Given the description of an element on the screen output the (x, y) to click on. 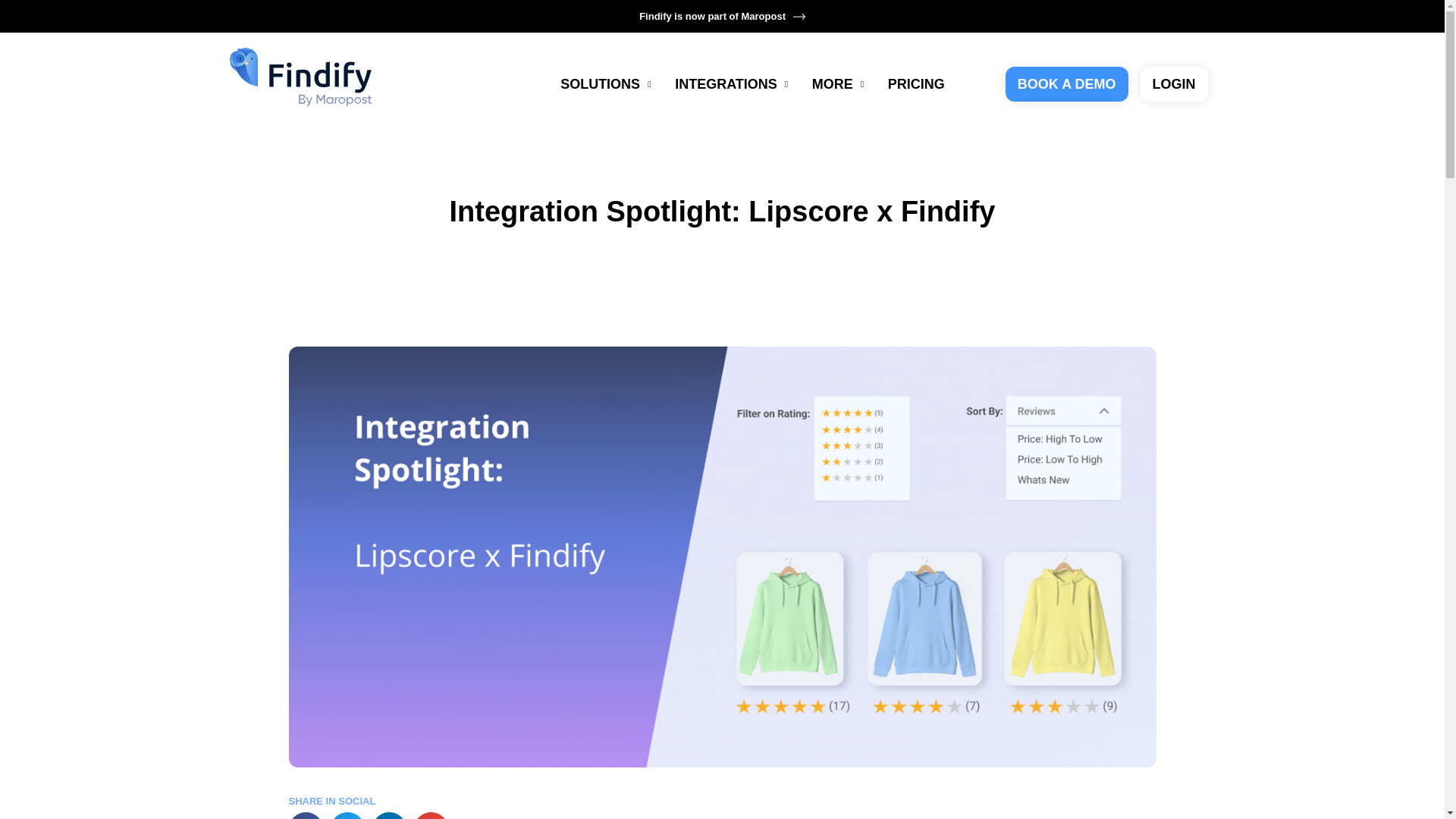
SOLUTIONS (603, 83)
Findify is now part of Maropost (722, 16)
MORE (836, 83)
INTEGRATIONS (729, 83)
PRICING (916, 83)
